Given the description of an element on the screen output the (x, y) to click on. 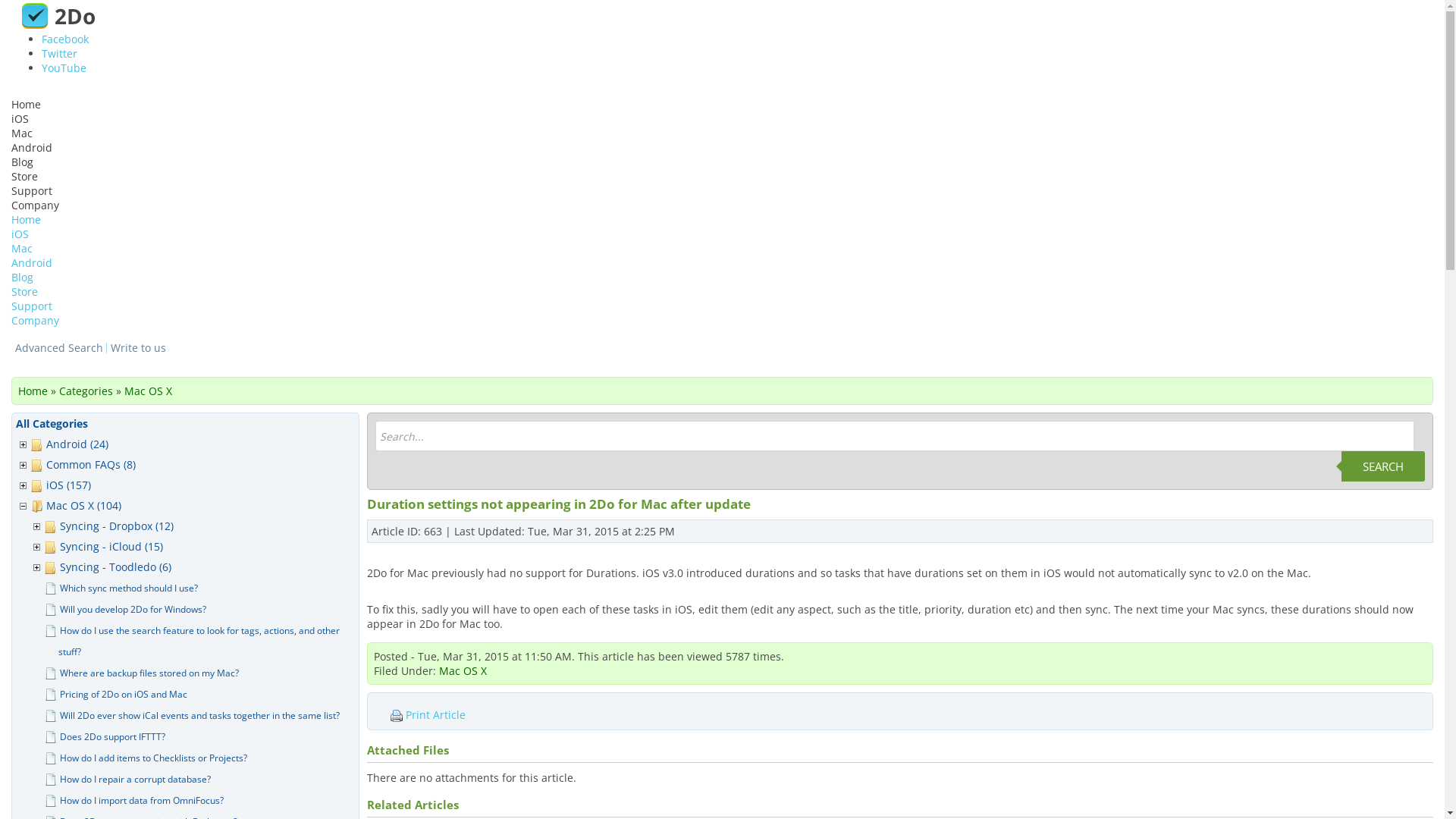
Mac Element type: text (21, 248)
iOS Element type: text (19, 118)
Android Element type: text (31, 147)
Where are backup files stored on my Mac? Element type: text (152, 672)
How do I repair a corrupt database? Element type: text (138, 778)
Syncing - Toodledo (6) Element type: text (118, 566)
Blog Element type: text (22, 161)
Mac OS X Element type: text (148, 390)
Syncing - Dropbox (12) Element type: text (119, 525)
Print Article Element type: text (447, 714)
Support Element type: text (31, 305)
Pricing of 2Do on iOS and Mac Element type: text (126, 694)
Common FAQs (8) Element type: text (93, 464)
Company Element type: text (35, 204)
Facebook Element type: text (64, 38)
Android (24) Element type: text (80, 443)
Which sync method should I use? Element type: text (131, 587)
Categories Element type: text (85, 390)
Advanced Search Element type: text (59, 347)
Home Element type: text (25, 219)
Does 2Do support IFTTT? Element type: text (115, 736)
Store Element type: text (24, 291)
Store Element type: text (24, 176)
All Categories Element type: text (51, 423)
Mac Element type: text (21, 132)
Twitter Element type: text (59, 53)
Write to us Element type: text (138, 347)
Home Element type: text (32, 390)
Syncing - iCloud (15) Element type: text (114, 546)
How do I add items to Checklists or Projects? Element type: text (156, 757)
iOS (157) Element type: text (71, 484)
iOS Element type: text (19, 233)
How do I import data from OmniFocus? Element type: text (144, 800)
Support Element type: text (31, 190)
2Do Element type: hover (55, 14)
Home Element type: text (25, 104)
YouTube Element type: text (63, 67)
Mac OS X (104) Element type: text (86, 505)
Android Element type: text (31, 262)
Company Element type: text (35, 320)
Will you develop 2Do for Windows? Element type: text (135, 609)
SEARCH Element type: text (1382, 466)
Blog Element type: text (22, 276)
Mac OS X Element type: text (462, 670)
